Given the description of an element on the screen output the (x, y) to click on. 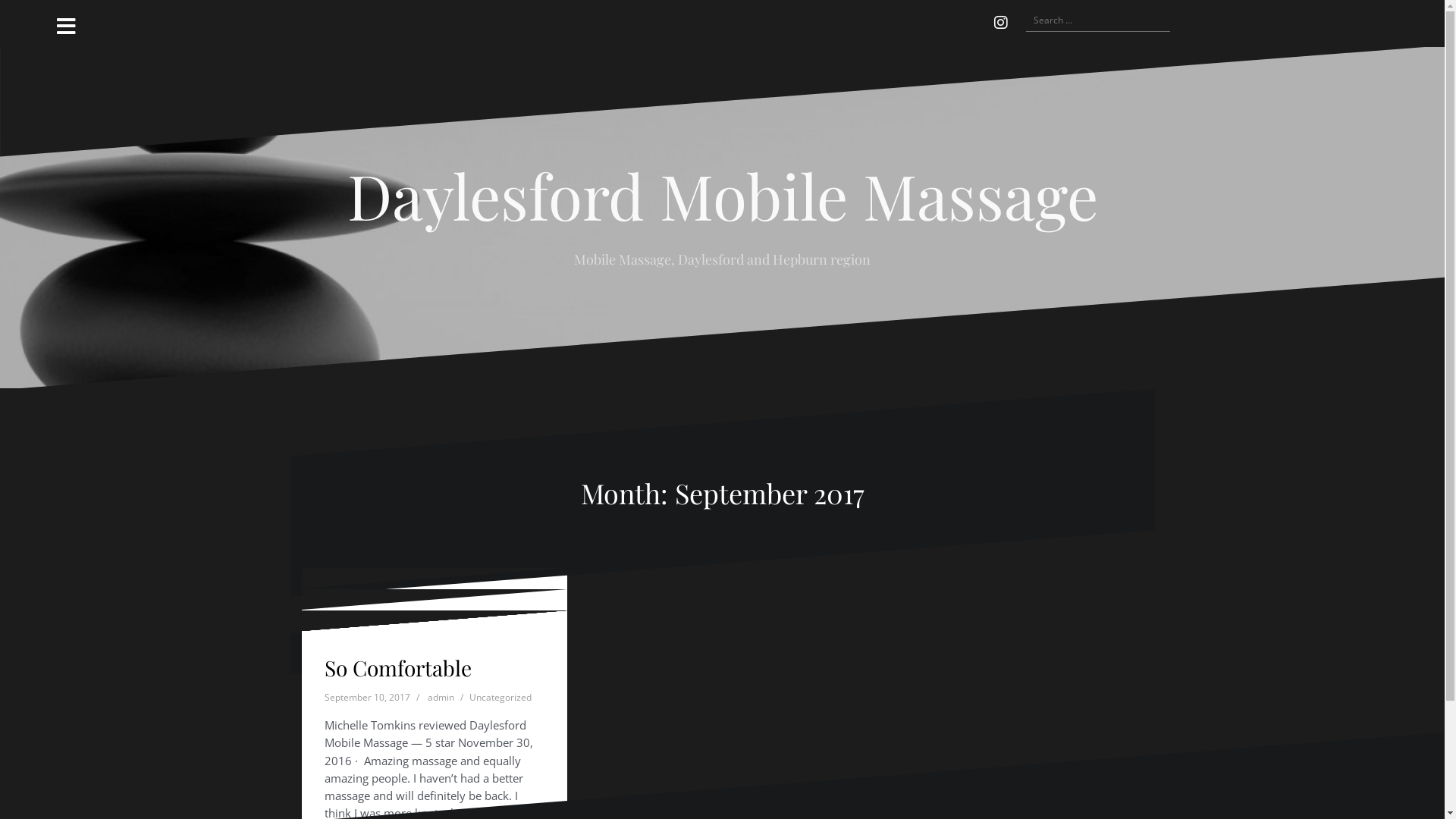
September 10, 2017 Element type: text (367, 655)
Daylesford Mobile Massage Element type: text (722, 194)
Uncategorized Element type: text (499, 696)
Hens Party Element type: text (376, 667)
Uncategorized Element type: text (499, 720)
Older posts Element type: text (331, 652)
Awesome work Element type: text (396, 625)
Uncategorized Element type: text (499, 676)
Will definitely use again! Element type: text (408, 679)
instagram Element type: text (999, 22)
September 10, 2017 Element type: text (367, 720)
admin Element type: text (440, 676)
Perfect Service. Element type: text (397, 667)
admin Element type: text (440, 655)
Tracy is an Earth Angel! Element type: text (404, 679)
admin Element type: text (440, 696)
OMG ! Element type: text (354, 667)
Highly Recommend. Element type: text (420, 646)
Healing Energy Element type: text (397, 667)
Uncategorized Element type: text (499, 655)
September 10, 2017 Element type: text (367, 676)
September 10, 2017 Element type: text (367, 696)
Search Element type: text (29, 20)
admin Element type: text (440, 720)
